Given the description of an element on the screen output the (x, y) to click on. 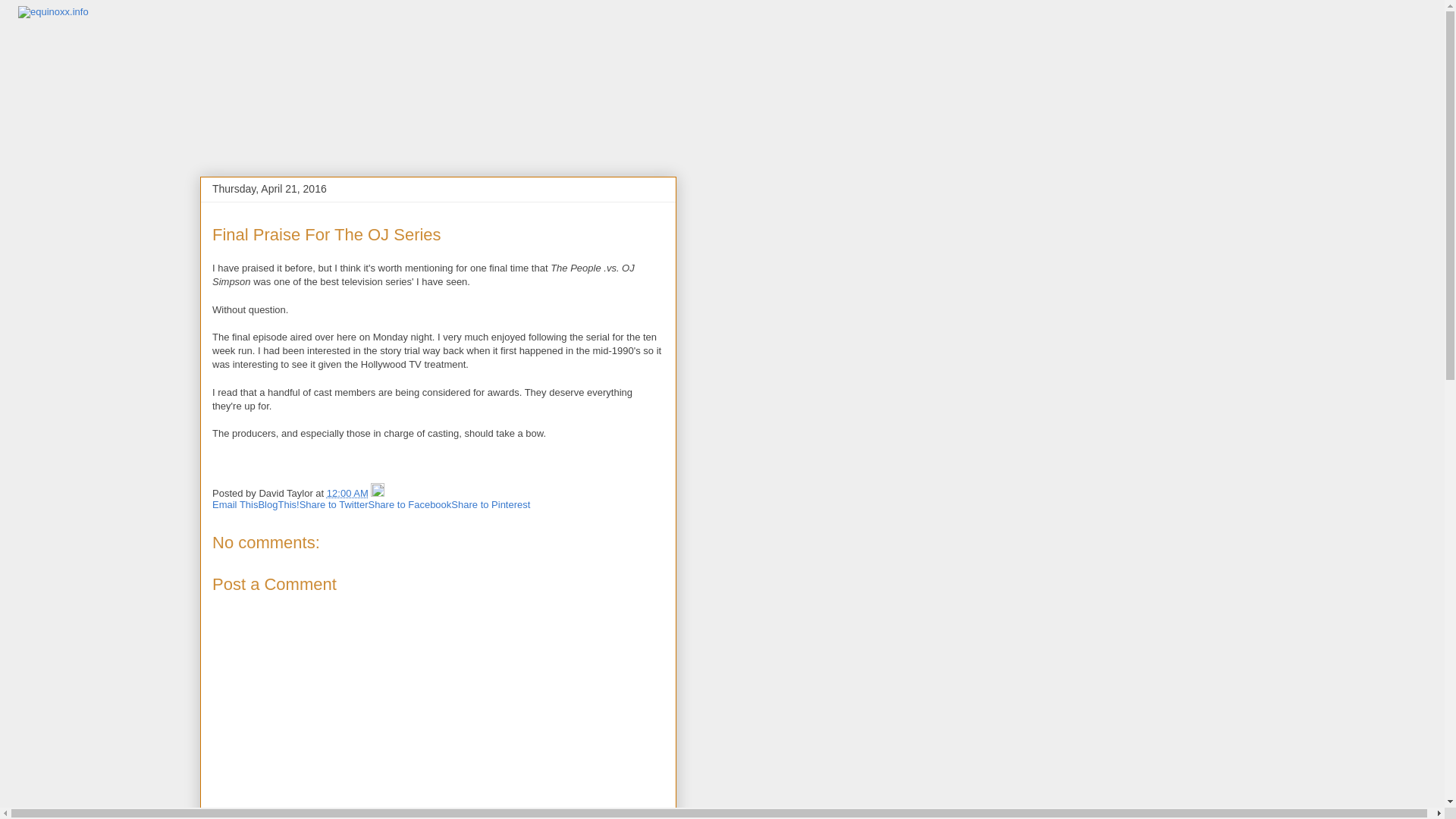
Email This (234, 504)
Share to Pinterest (490, 504)
12:00 AM (347, 492)
Email This (234, 504)
Edit Post (377, 492)
Share to Twitter (333, 504)
Share to Pinterest (490, 504)
BlogThis! (277, 504)
Share to Facebook (409, 504)
Share to Facebook (409, 504)
BlogThis! (277, 504)
permanent link (347, 492)
Share to Twitter (333, 504)
